Given the description of an element on the screen output the (x, y) to click on. 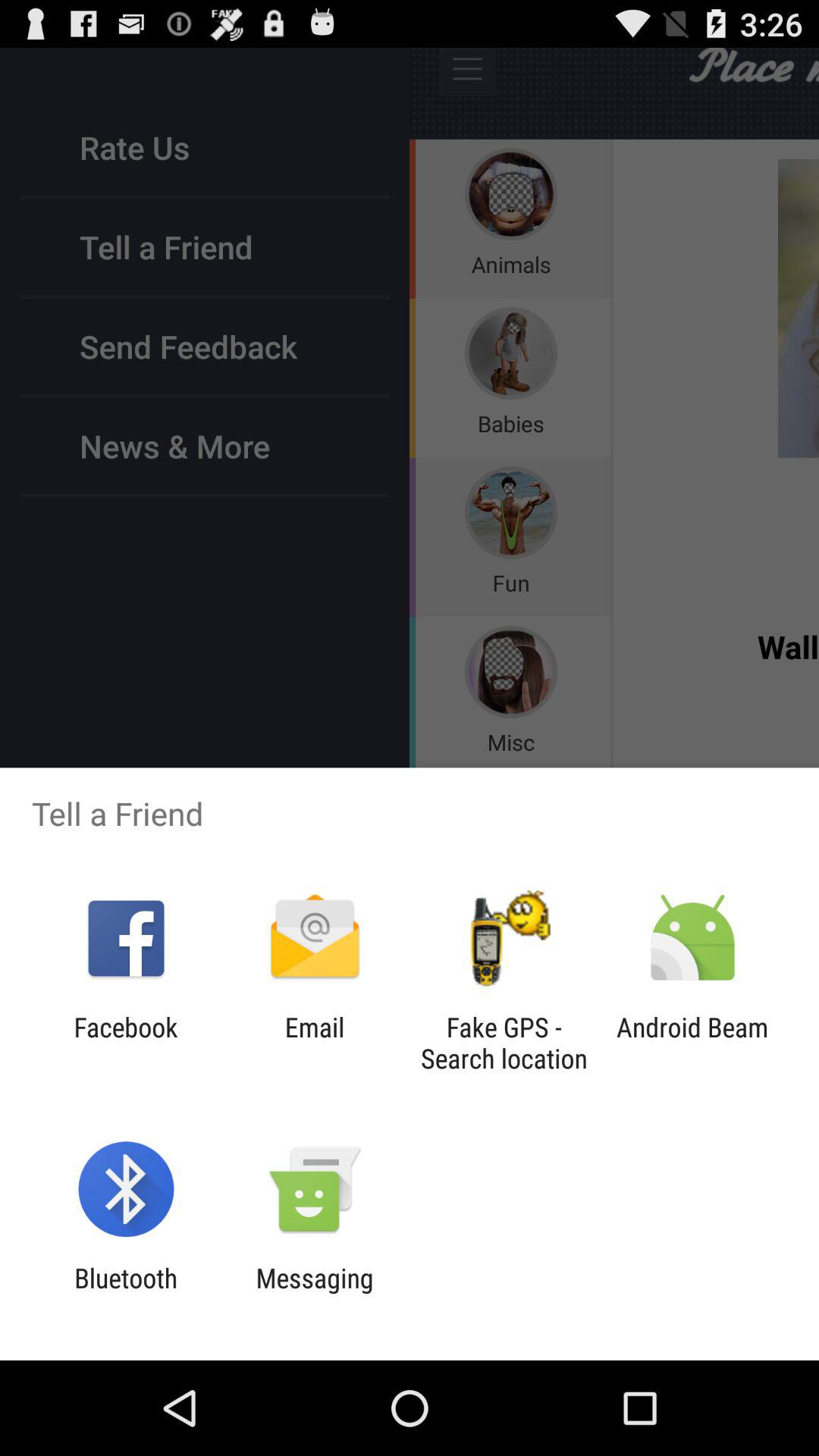
launch the facebook app (125, 1042)
